Given the description of an element on the screen output the (x, y) to click on. 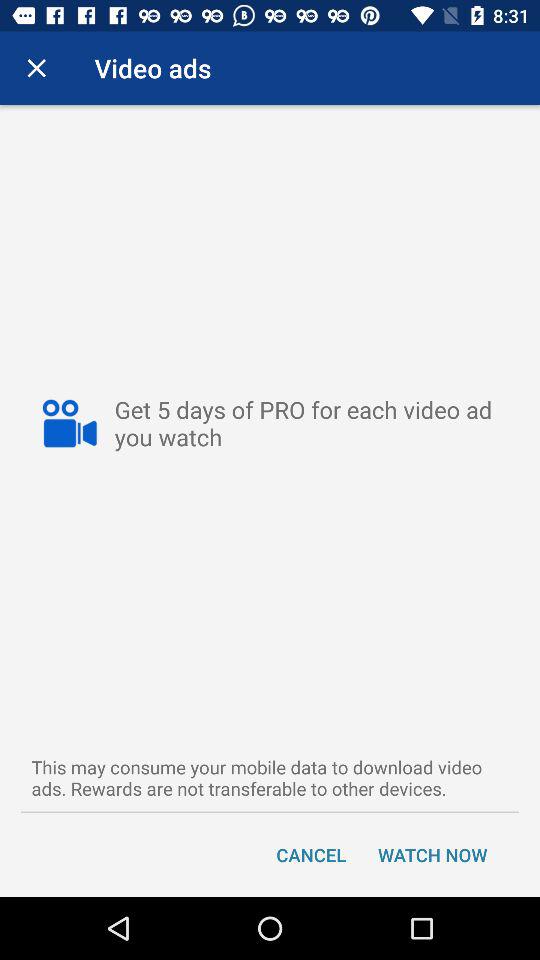
jump until the cancel item (311, 854)
